Given the description of an element on the screen output the (x, y) to click on. 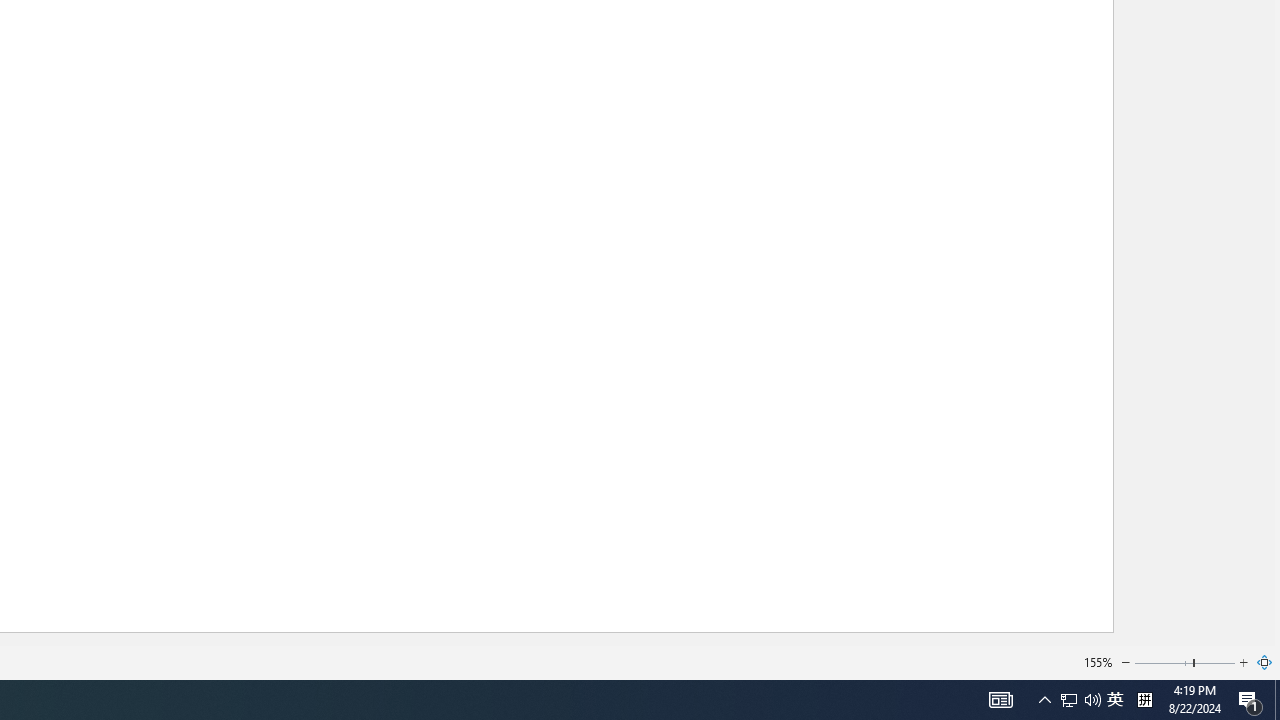
Page left (1163, 662)
Page right (1215, 662)
155% (1098, 662)
Zoom to Page (1265, 662)
